Given the description of an element on the screen output the (x, y) to click on. 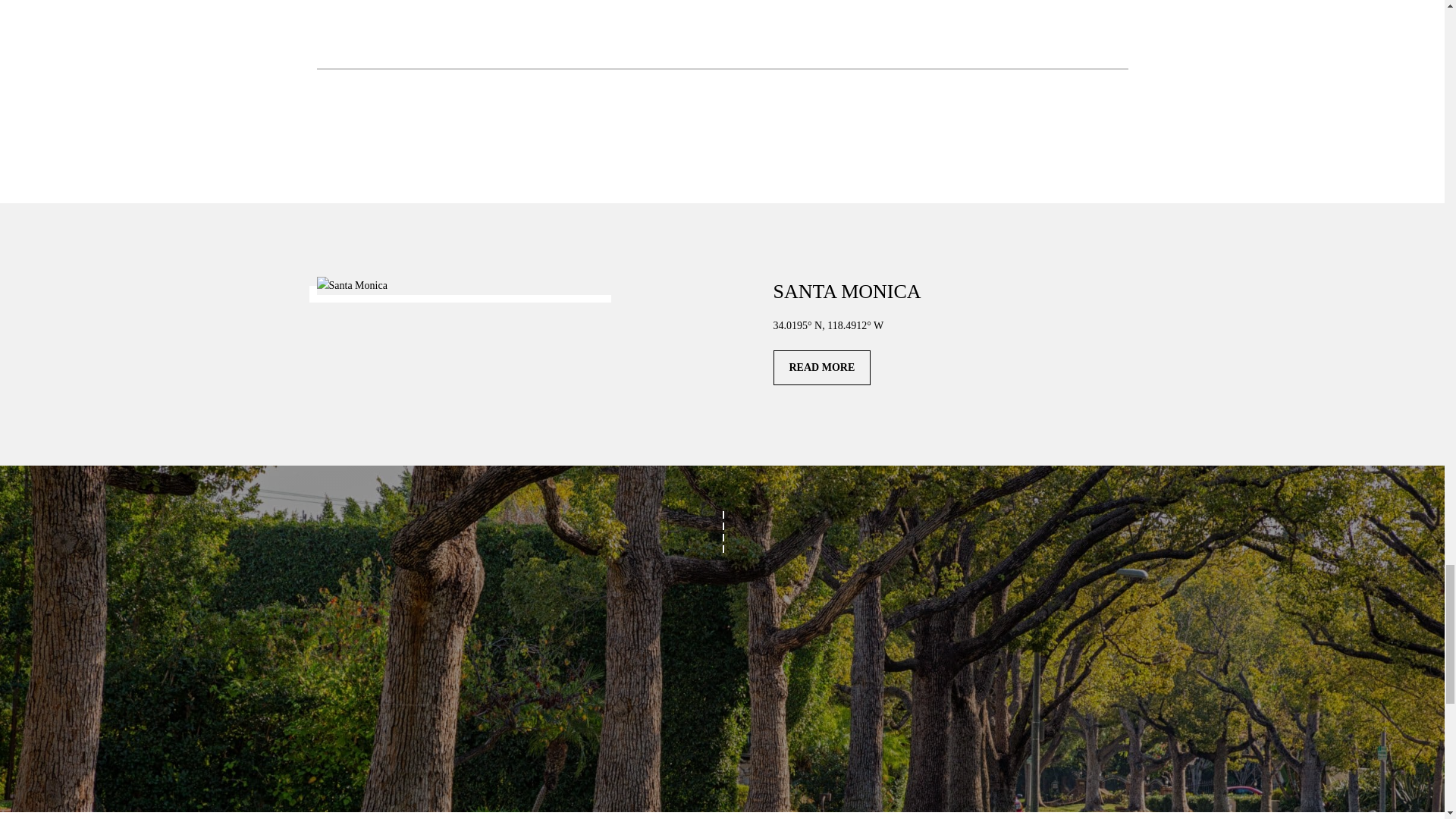
READ MORE (821, 367)
